Given the description of an element on the screen output the (x, y) to click on. 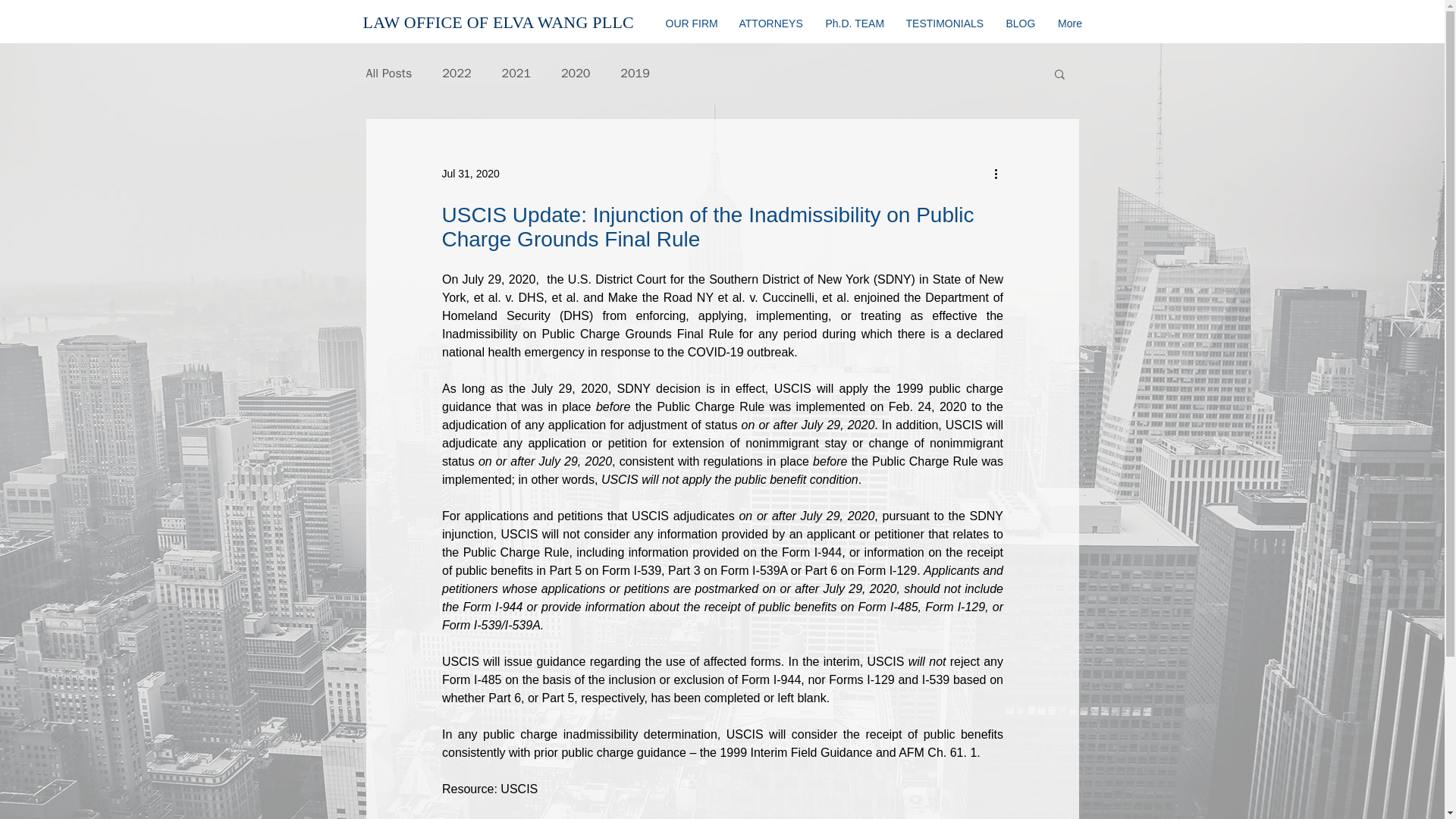
2019 (634, 73)
All Posts (388, 73)
Ph.D. TEAM (854, 23)
2020 (574, 73)
OUR FIRM (689, 23)
2022 (456, 73)
Jul 31, 2020 (470, 173)
LAW OFFICE OF ELVA WANG PLLC (497, 22)
BLOG (1020, 23)
2021 (516, 73)
